Given the description of an element on the screen output the (x, y) to click on. 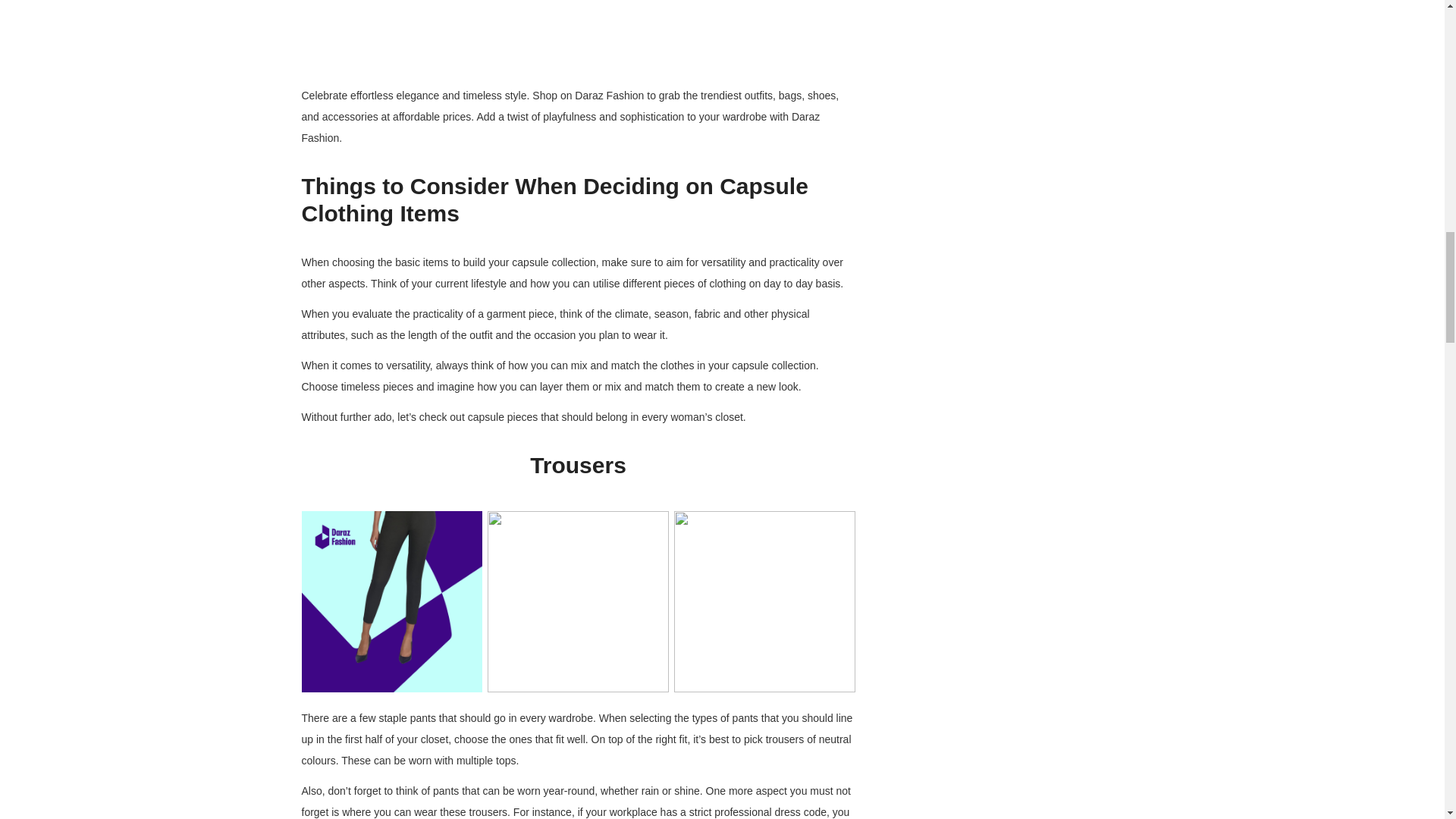
Fashion Promo V1 - HD (578, 28)
